Given the description of an element on the screen output the (x, y) to click on. 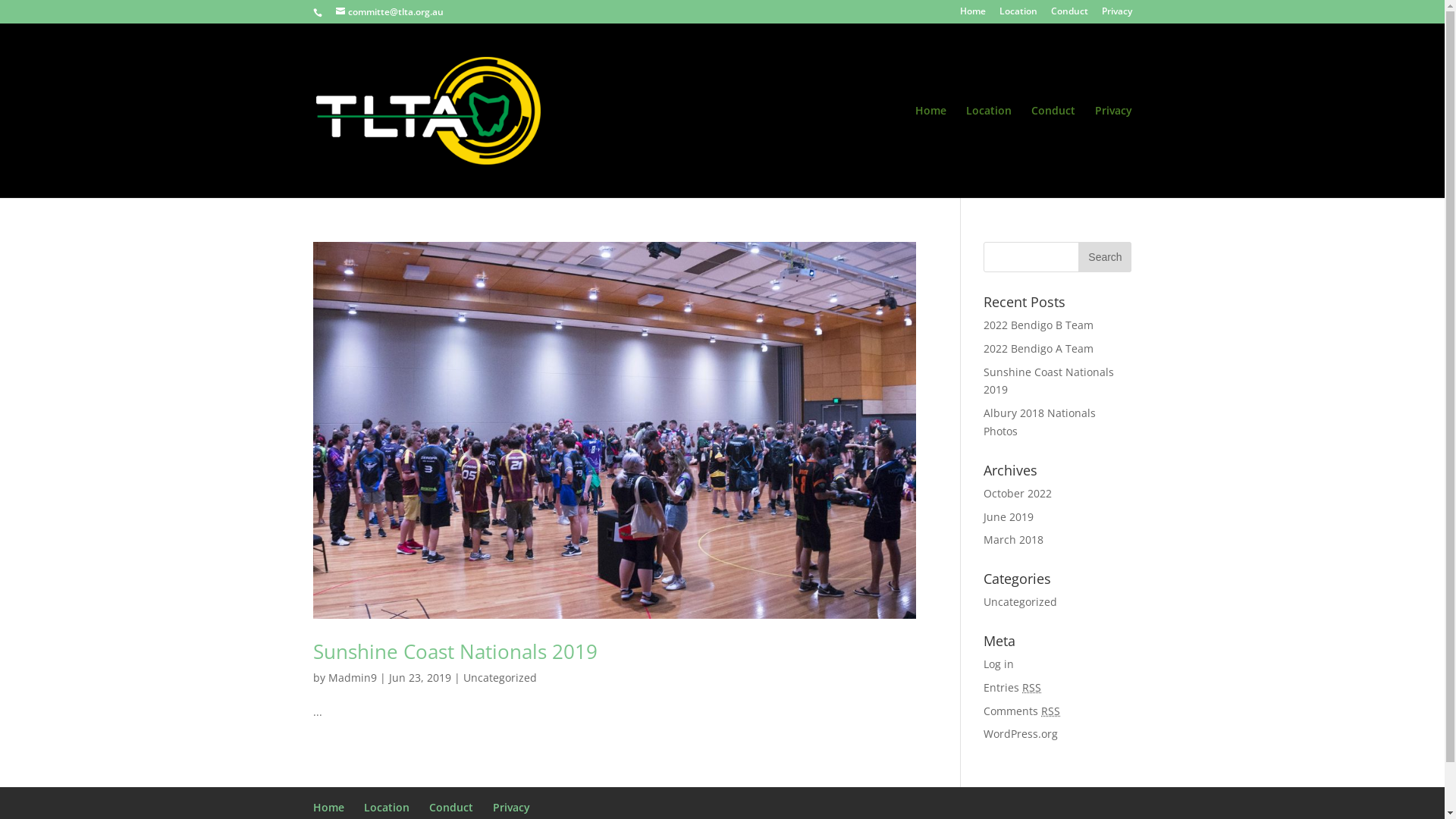
Location Element type: text (1018, 14)
Albury 2018 Nationals Photos Element type: text (1039, 421)
Privacy Element type: text (1116, 14)
Search Element type: text (1104, 256)
Madmin9 Element type: text (351, 677)
Log in Element type: text (998, 663)
Privacy Element type: text (1113, 151)
March 2018 Element type: text (1013, 539)
Conduct Element type: text (451, 807)
October 2022 Element type: text (1017, 493)
Home Element type: text (327, 807)
2022 Bendigo A Team Element type: text (1038, 348)
June 2019 Element type: text (1008, 516)
Uncategorized Element type: text (499, 677)
Entries RSS Element type: text (1012, 687)
Home Element type: text (972, 14)
Location Element type: text (988, 151)
Sunshine Coast Nationals 2019 Element type: text (454, 651)
Comments RSS Element type: text (1021, 710)
Home Element type: text (929, 151)
Conduct Element type: text (1069, 14)
Sunshine Coast Nationals 2019 Element type: text (1048, 380)
Location Element type: text (386, 807)
Conduct Element type: text (1053, 151)
WordPress.org Element type: text (1020, 733)
Uncategorized Element type: text (1020, 601)
Privacy Element type: text (511, 807)
2022 Bendigo B Team Element type: text (1038, 324)
committe@tlta.org.au Element type: text (388, 11)
